Given the description of an element on the screen output the (x, y) to click on. 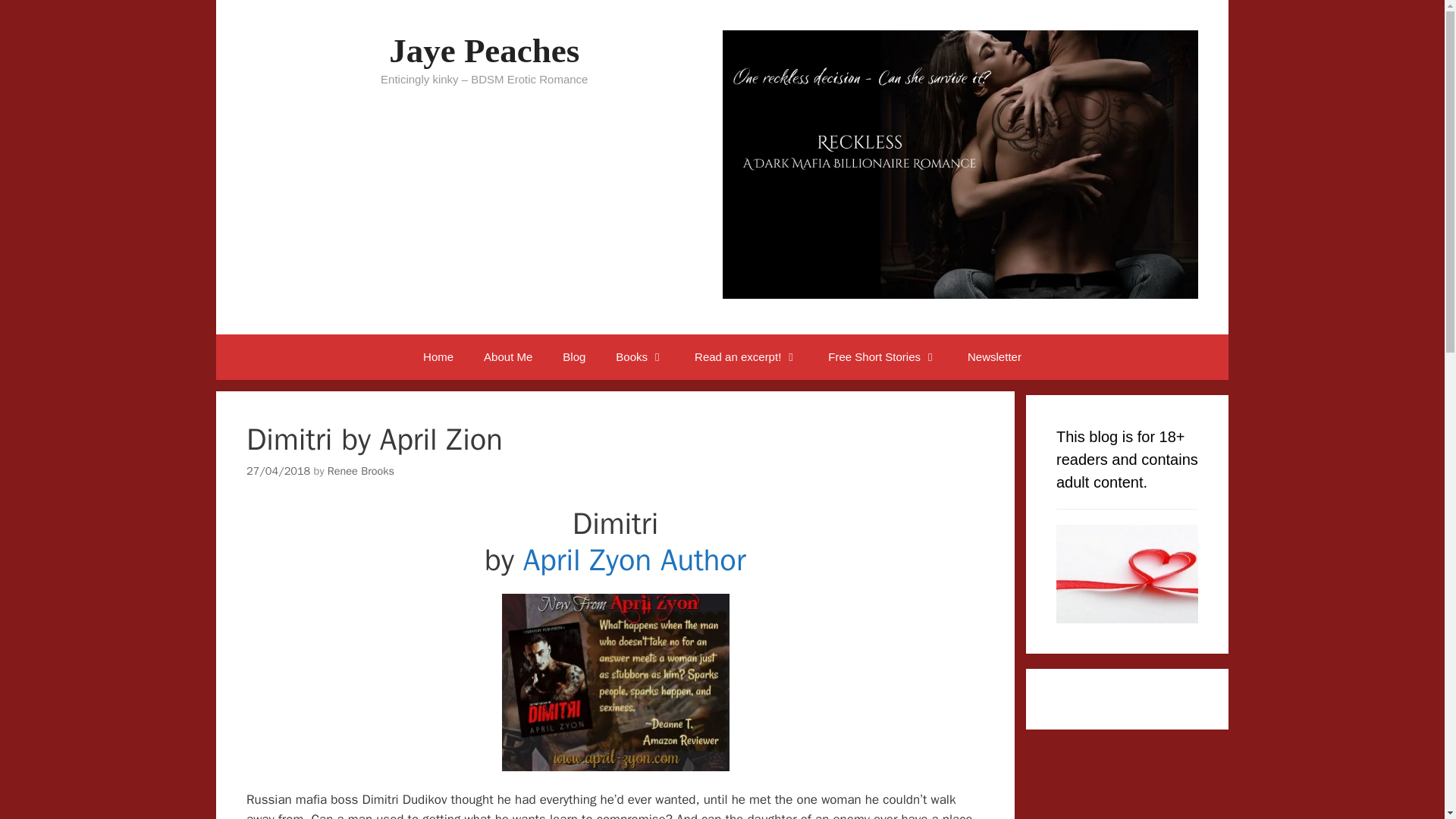
05:00 (278, 470)
View all posts by Renee Brooks (360, 470)
Home (437, 357)
Jaye Peaches (483, 50)
About Me (507, 357)
Blog (573, 357)
Books (639, 357)
